Given the description of an element on the screen output the (x, y) to click on. 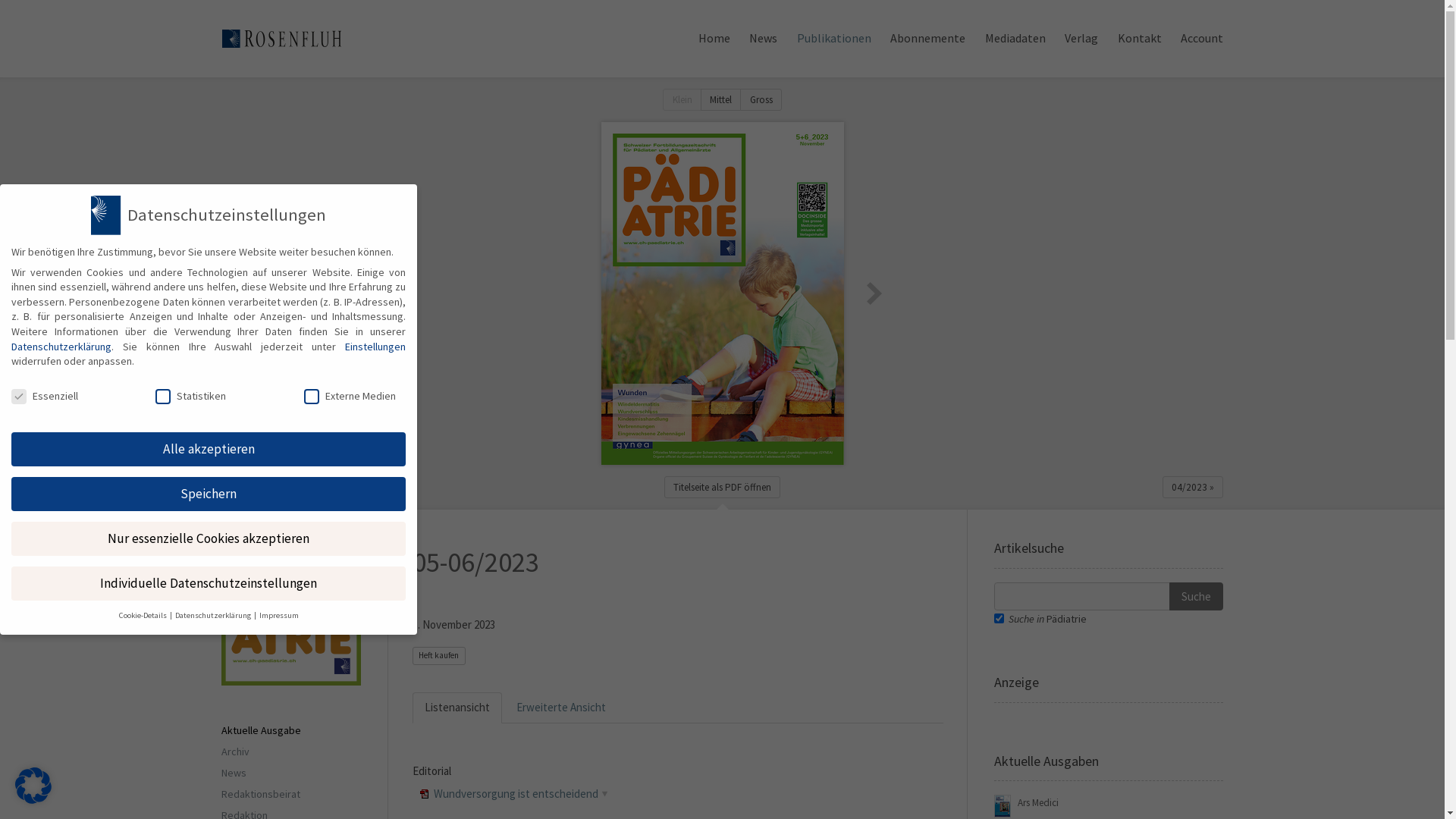
Alle akzeptieren Element type: text (208, 449)
Nur essenzielle Cookies akzeptieren Element type: text (208, 538)
Publikationen Element type: text (834, 38)
Wundversorgung ist entscheidend Element type: text (515, 793)
Speichern Element type: text (208, 493)
Mittel Element type: text (720, 99)
News Element type: text (763, 38)
Klein Element type: text (681, 99)
Verlag Element type: text (1081, 38)
Mediadaten Element type: text (1015, 38)
Home Element type: text (714, 38)
Erweiterte Ansicht Element type: text (560, 707)
Redaktionsbeirat Element type: text (260, 794)
Archiv Element type: text (235, 751)
Gross Element type: text (760, 99)
Kontakt Element type: text (1139, 38)
Abonnemente Element type: text (927, 38)
Suche Element type: text (1196, 596)
Account Element type: text (1201, 38)
Cookie-Details Element type: text (142, 615)
Aktuelle Ausgabe Element type: text (261, 730)
Individuelle Datenschutzeinstellungen Element type: text (208, 583)
Impressum Element type: text (278, 615)
Heft kaufen Element type: text (438, 655)
News Element type: text (233, 772)
Einstellungen Element type: text (375, 346)
Listenansicht Element type: text (457, 707)
Ars Medici Element type: text (1037, 802)
